Given the description of an element on the screen output the (x, y) to click on. 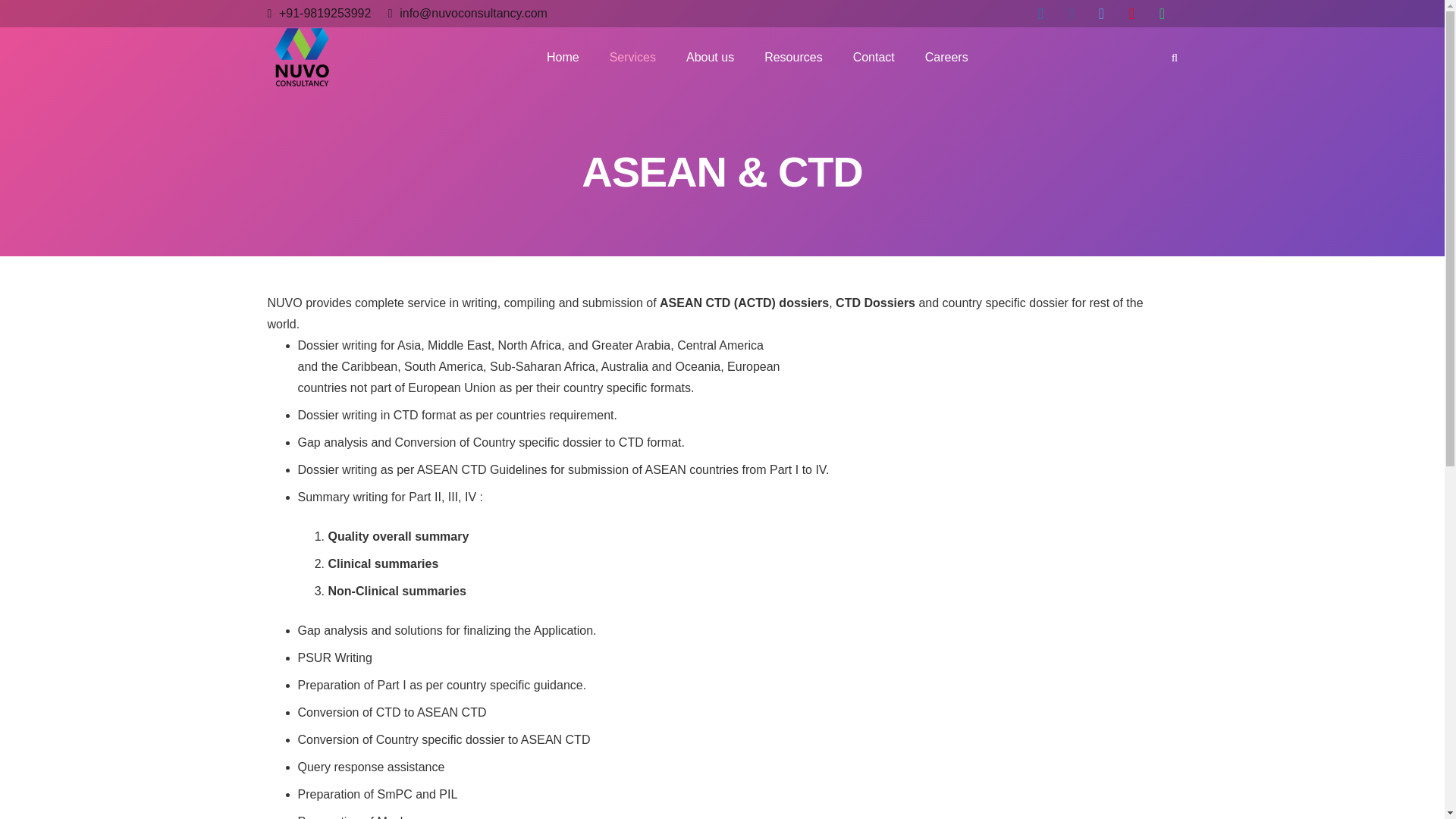
WhatsApp (1162, 14)
Services (632, 57)
LinkedIn (1041, 14)
Twitter (1101, 14)
Facebook (1071, 14)
Home (562, 57)
YouTube (1131, 14)
